Given the description of an element on the screen output the (x, y) to click on. 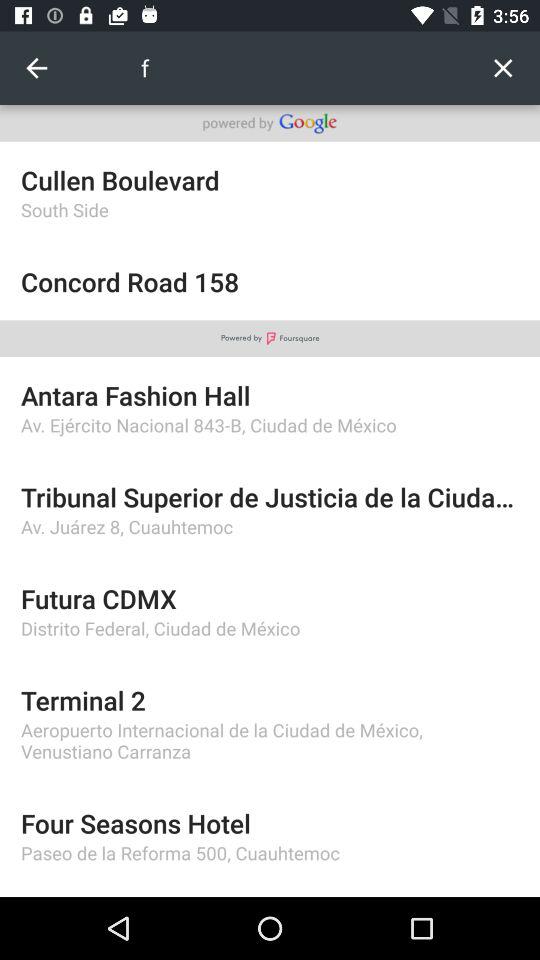
press app below the four seasons hotel (270, 852)
